Given the description of an element on the screen output the (x, y) to click on. 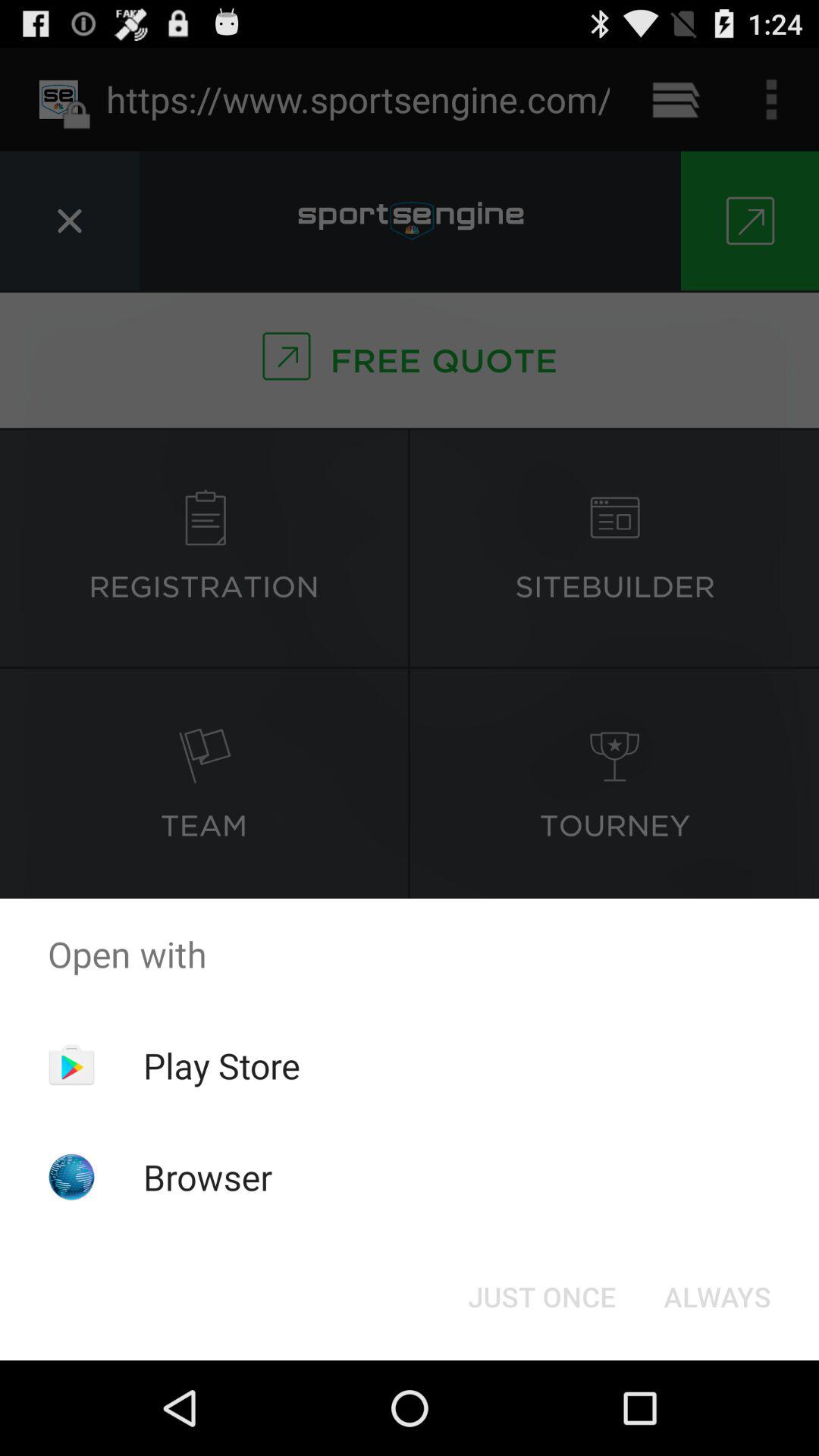
launch the item at the bottom (541, 1296)
